Given the description of an element on the screen output the (x, y) to click on. 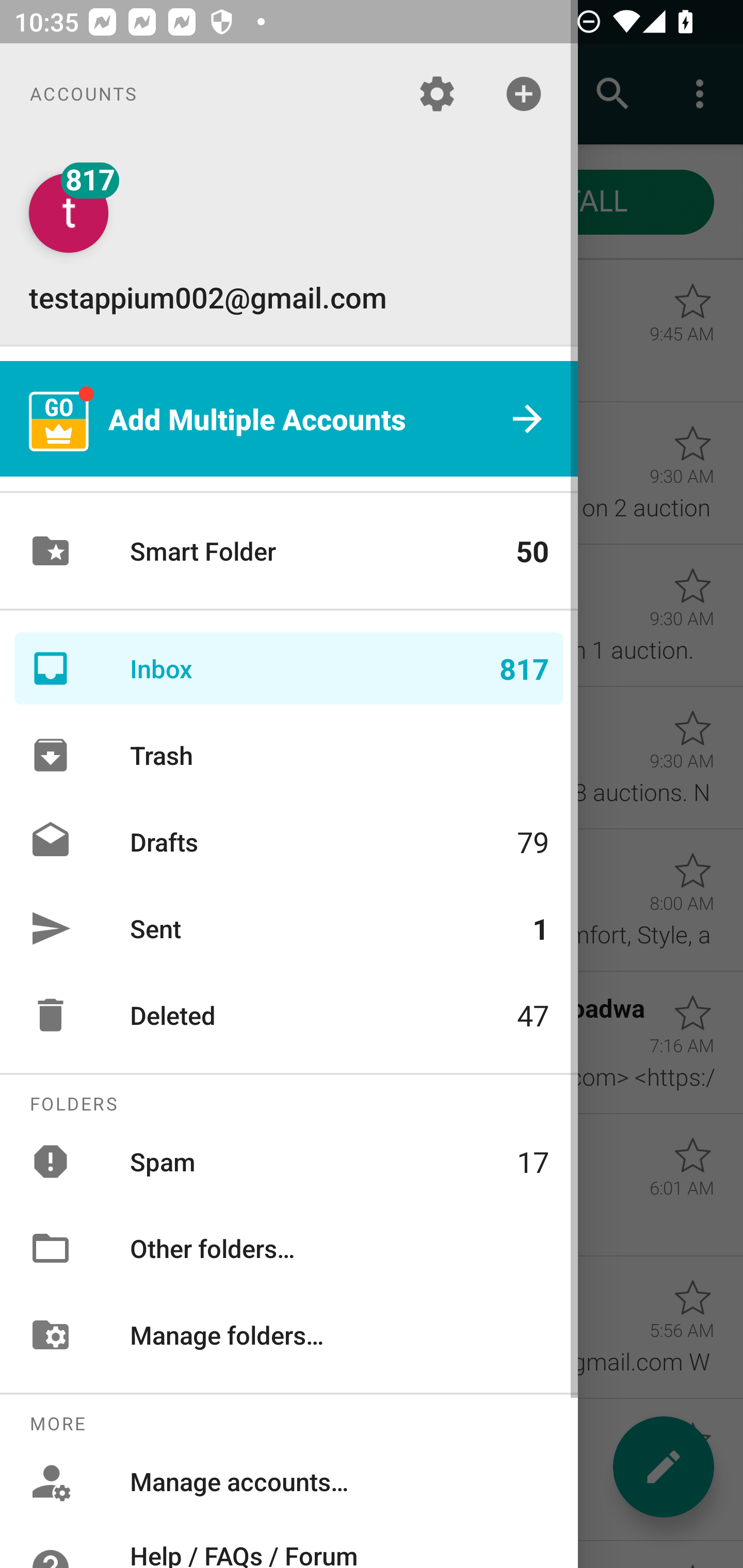
testappium002@gmail.com (289, 244)
Add Multiple Accounts (289, 418)
Smart Folder 50 (289, 551)
Inbox 817 (289, 668)
Trash (289, 754)
Drafts 79 (289, 841)
Sent 1 (289, 928)
Deleted 47 (289, 1015)
Spam 17 (289, 1160)
Other folders… (289, 1248)
Manage folders… (289, 1335)
Manage accounts… (289, 1480)
